Given the description of an element on the screen output the (x, y) to click on. 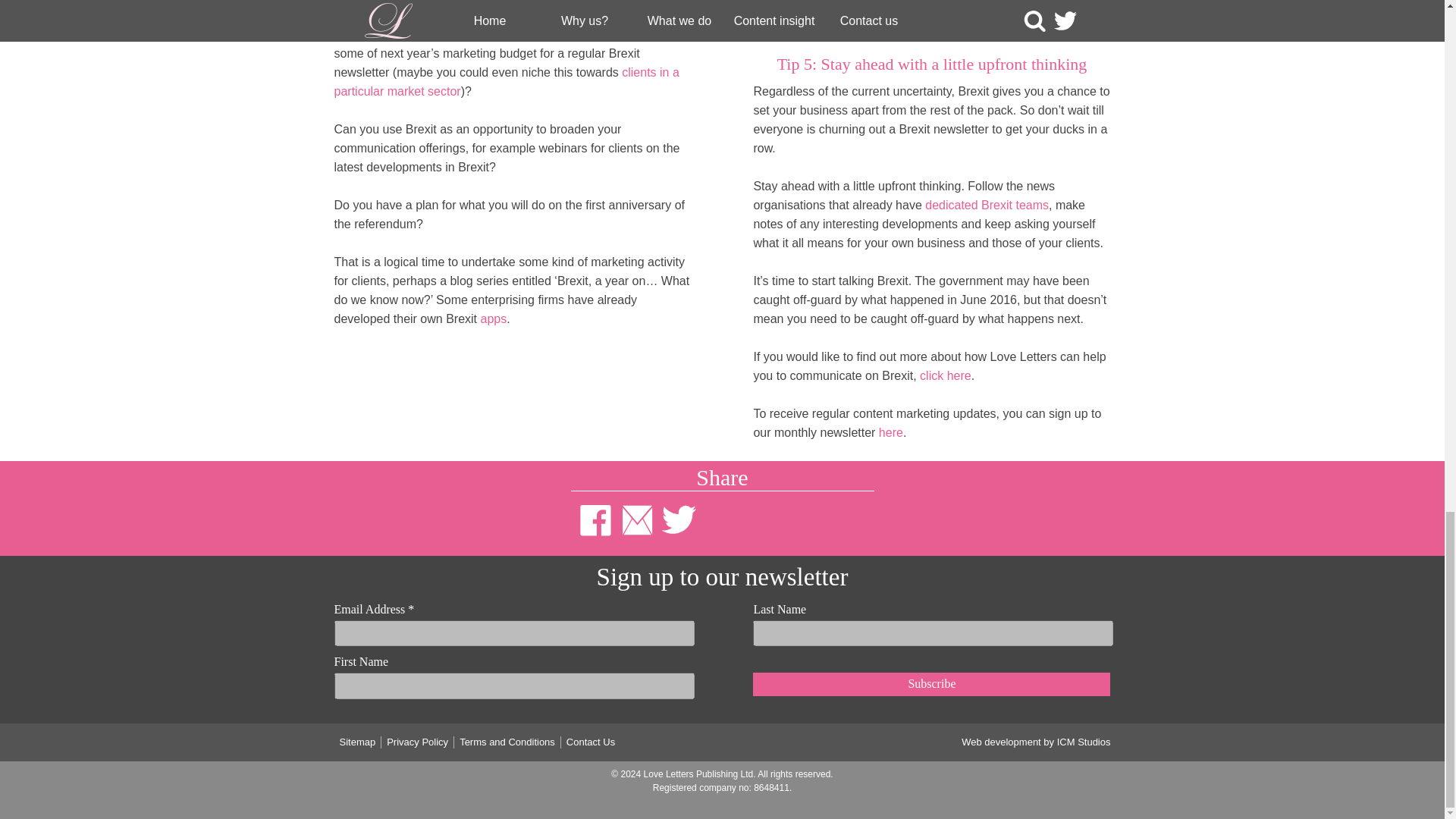
Privacy Policy (416, 742)
Contact Us (590, 742)
dedicated Brexit teams (986, 205)
Web development by ICM Studios (1034, 741)
press releases (851, 2)
click here (945, 375)
Terms and Conditions (507, 742)
Subscribe (930, 683)
here (890, 431)
apps (493, 318)
